Given the description of an element on the screen output the (x, y) to click on. 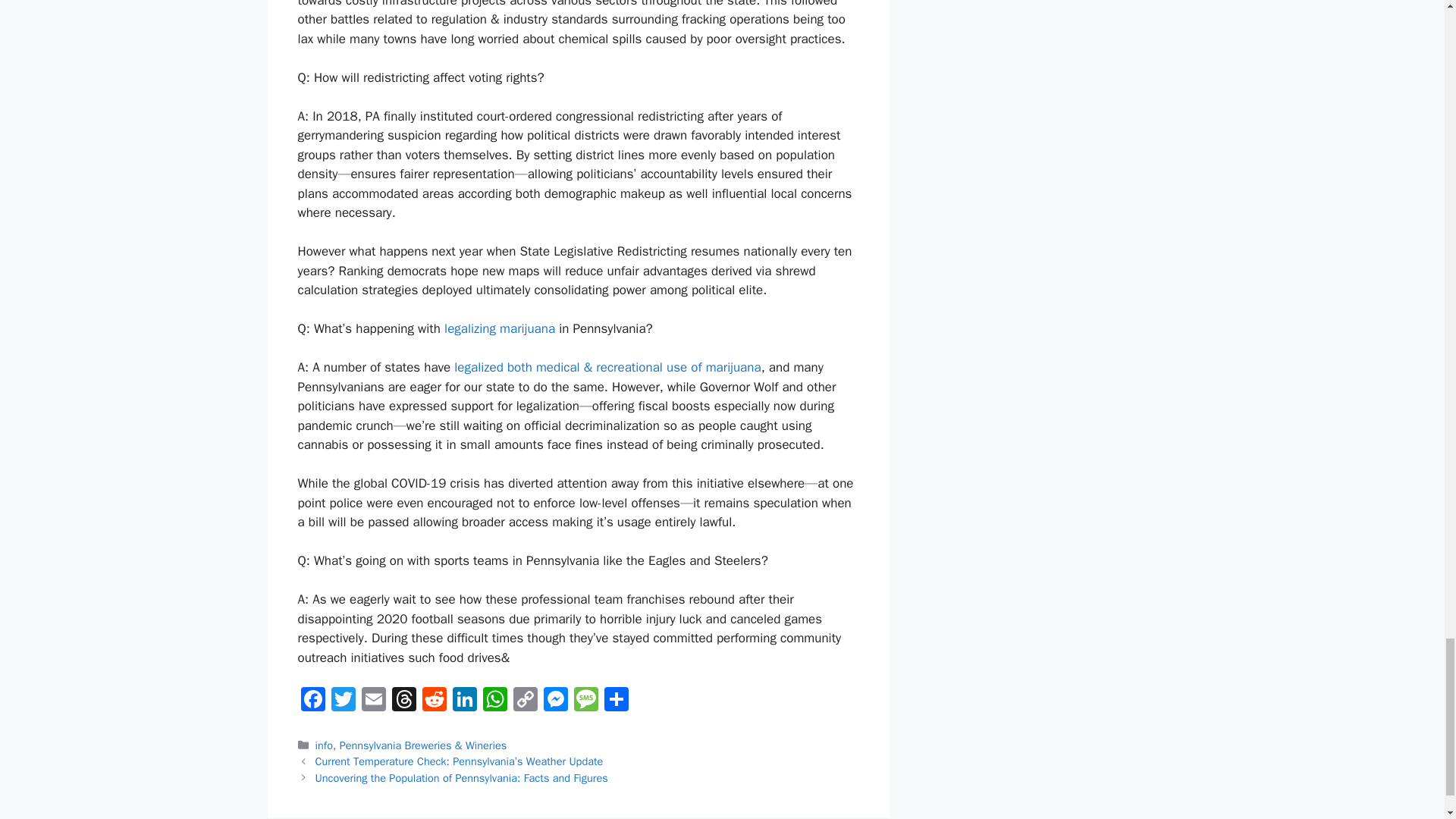
Twitter (342, 701)
Facebook (312, 701)
